Given the description of an element on the screen output the (x, y) to click on. 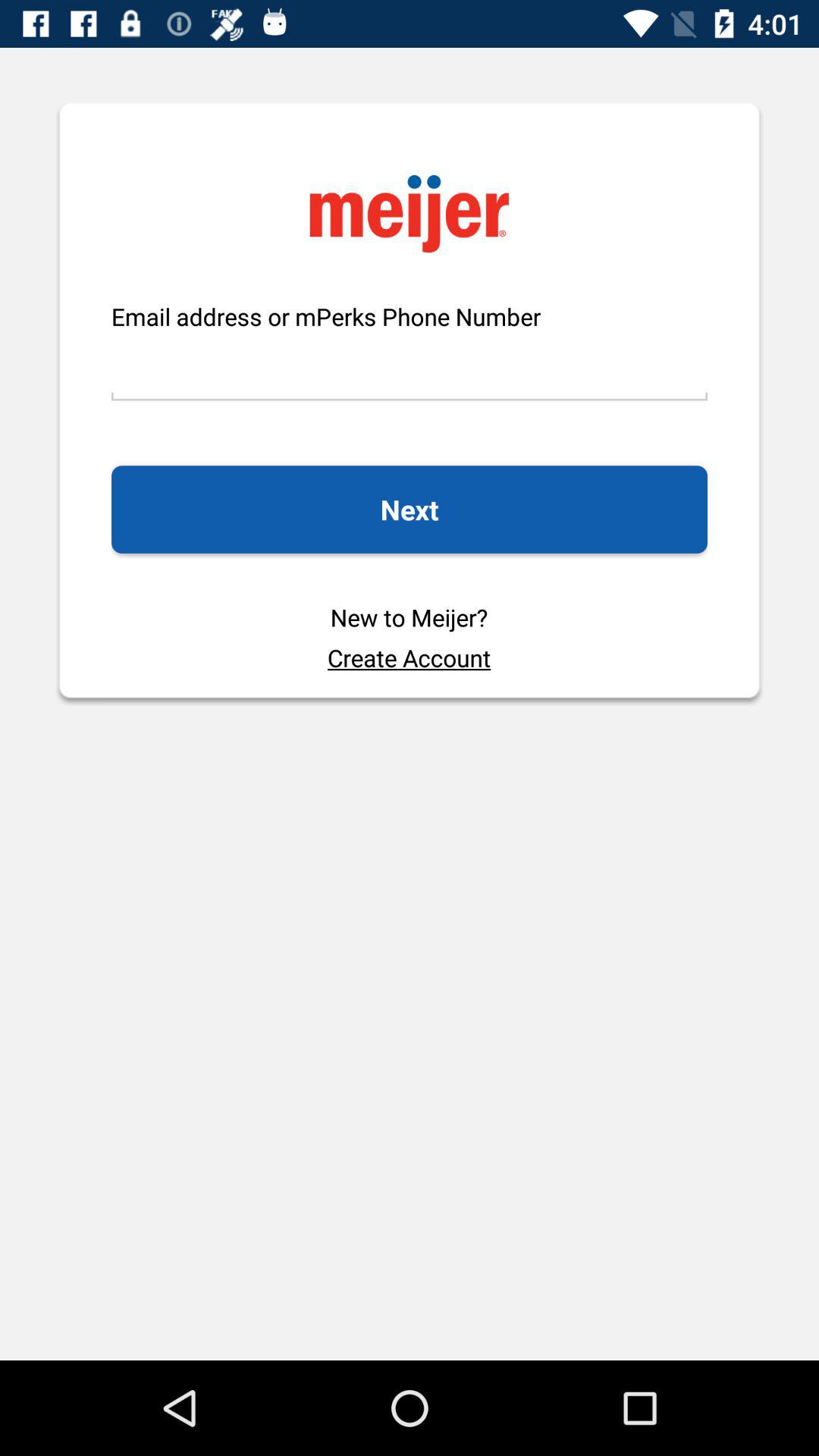
flip until create account (408, 657)
